Given the description of an element on the screen output the (x, y) to click on. 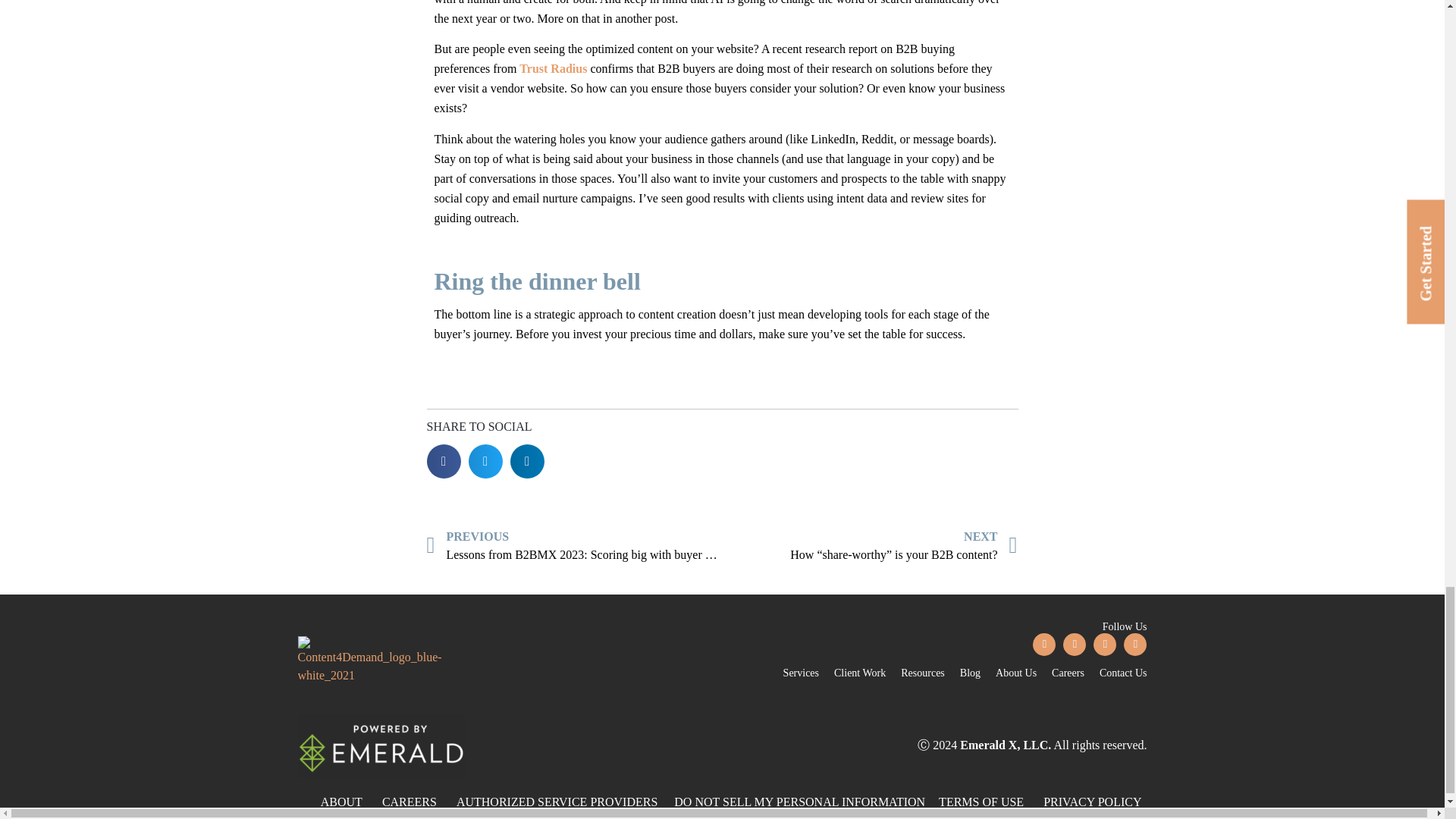
Trust Radius (552, 68)
